Given the description of an element on the screen output the (x, y) to click on. 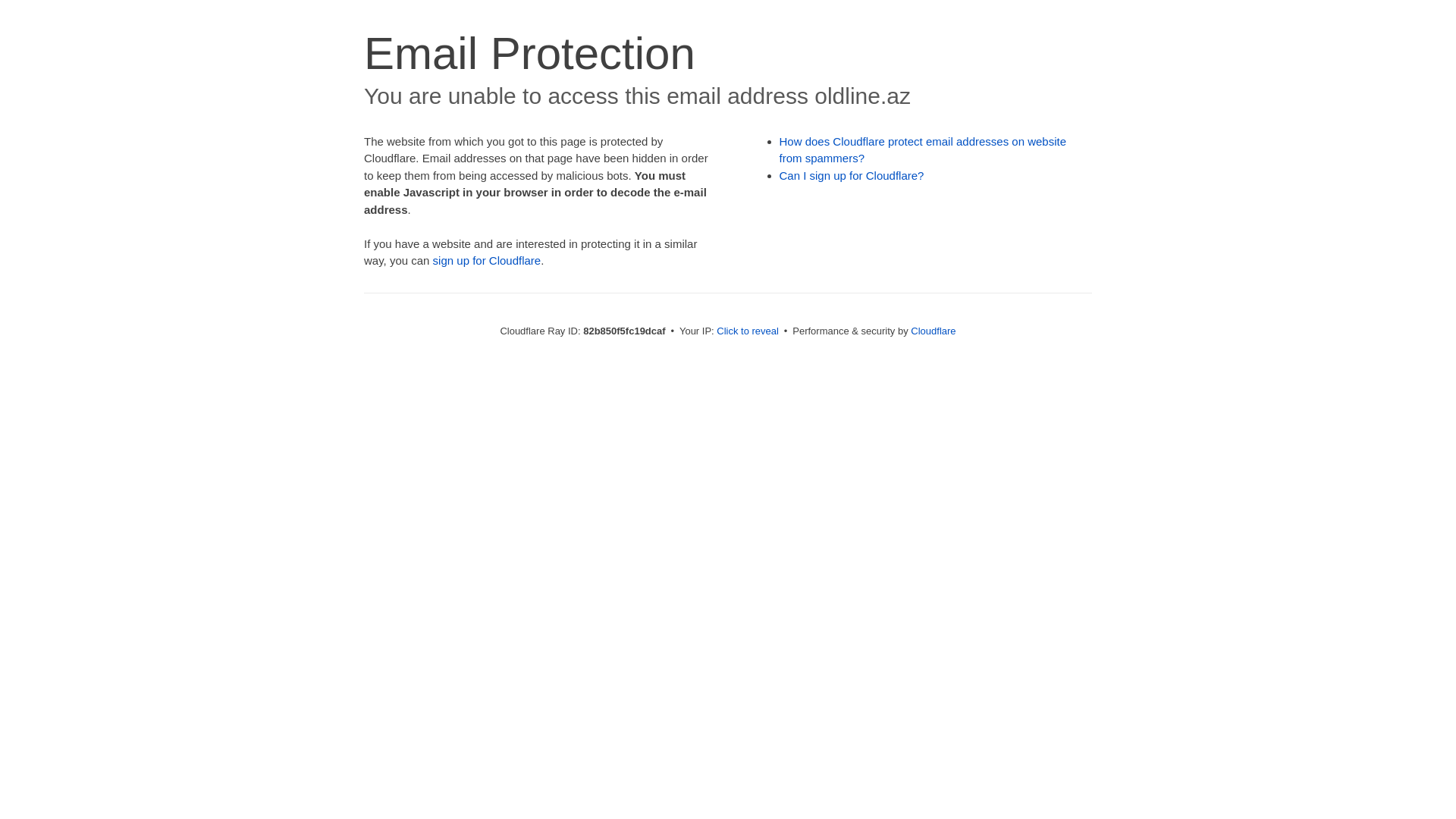
Can I sign up for Cloudflare? Element type: text (851, 175)
Click to reveal Element type: text (747, 330)
Cloudflare Element type: text (932, 330)
sign up for Cloudflare Element type: text (487, 260)
